Given the description of an element on the screen output the (x, y) to click on. 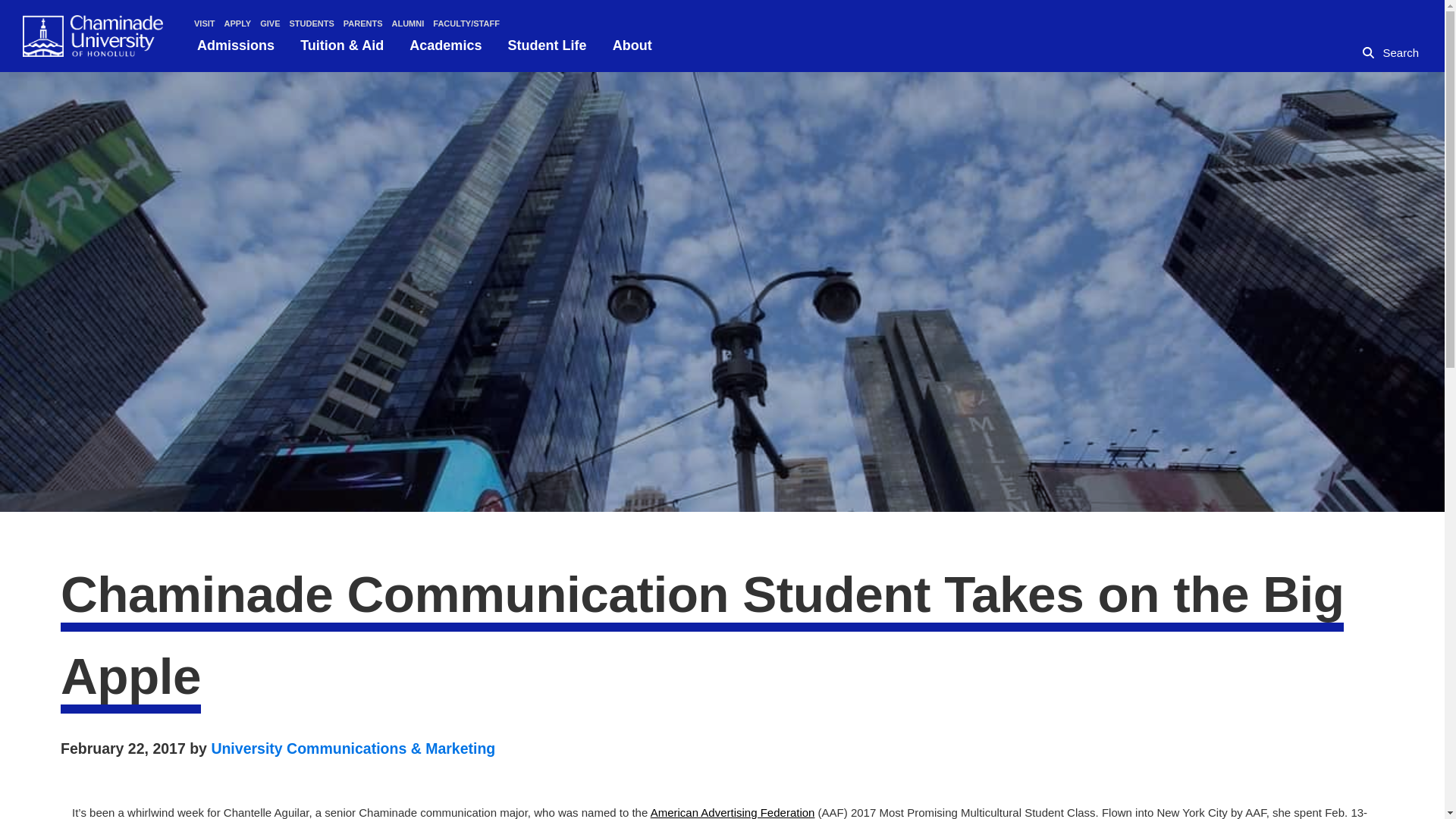
VISIT (204, 22)
Chaminade University of Honolulu (80, 101)
Academics (445, 45)
PARENTS (362, 22)
APPLY (237, 22)
Admissions (235, 45)
GIVE (269, 22)
STUDENTS (310, 22)
ALUMNI (408, 22)
